Given the description of an element on the screen output the (x, y) to click on. 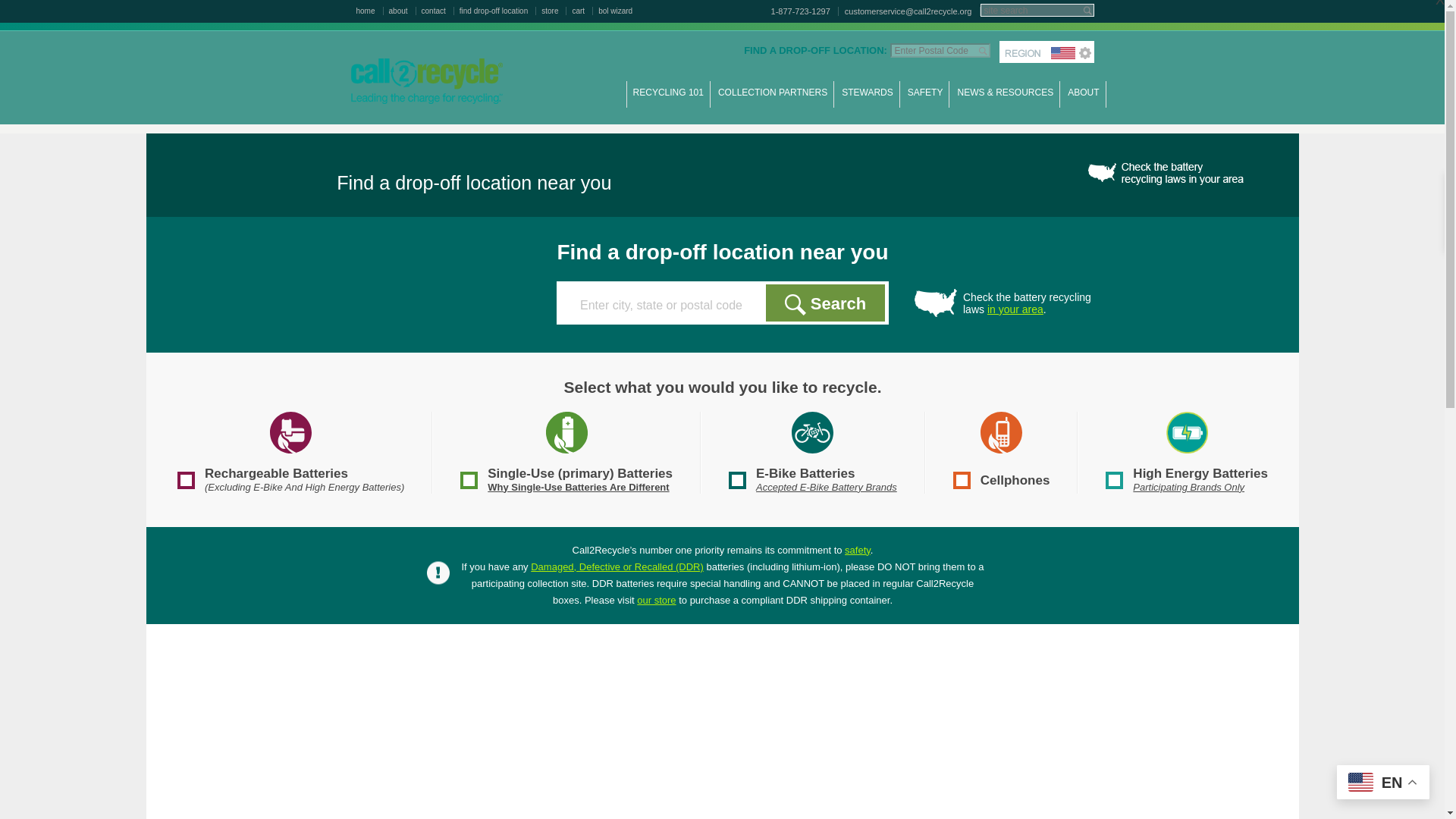
COLLECTION PARTNERS (772, 100)
about (402, 10)
STEWARDS (867, 100)
contact (438, 10)
SAFETY (925, 100)
RECYCLING 101 (668, 100)
1-877-723-1297 (801, 10)
home (370, 10)
find drop-off location (497, 10)
store (553, 10)
bol wizard (614, 10)
cart (582, 10)
